Given the description of an element on the screen output the (x, y) to click on. 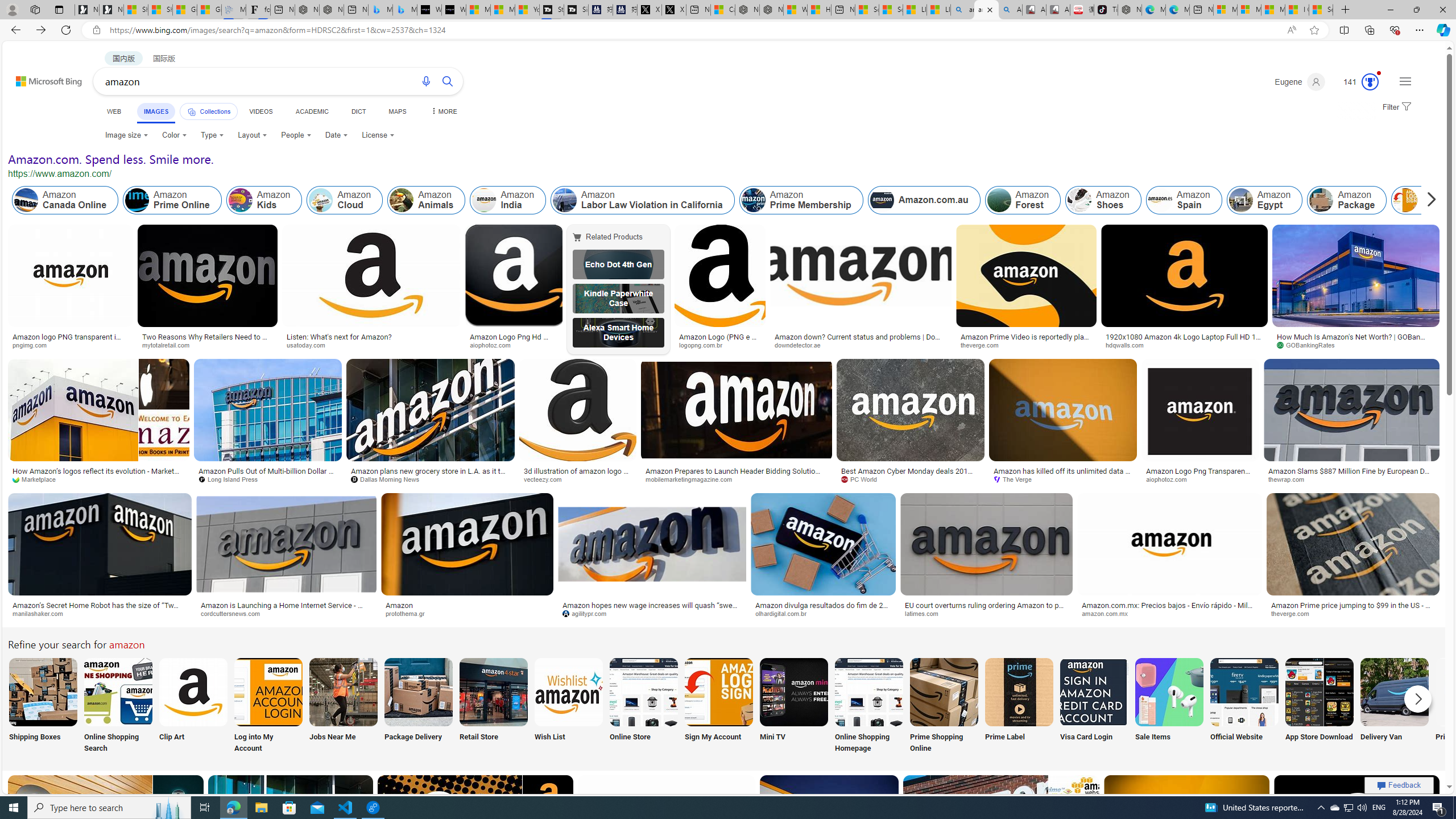
Amazon Online Store (644, 691)
3d illustration of amazon logo 18779928 PNG (577, 474)
Amazon Package Delivery Package Delivery (418, 706)
protothema.gr (408, 612)
amazon.com.mx (1169, 613)
Amazon Prime Membership (753, 200)
Amazon Visa Card Login (1093, 691)
Official Website (1243, 706)
Amazon Prime Membership (801, 199)
